Given the description of an element on the screen output the (x, y) to click on. 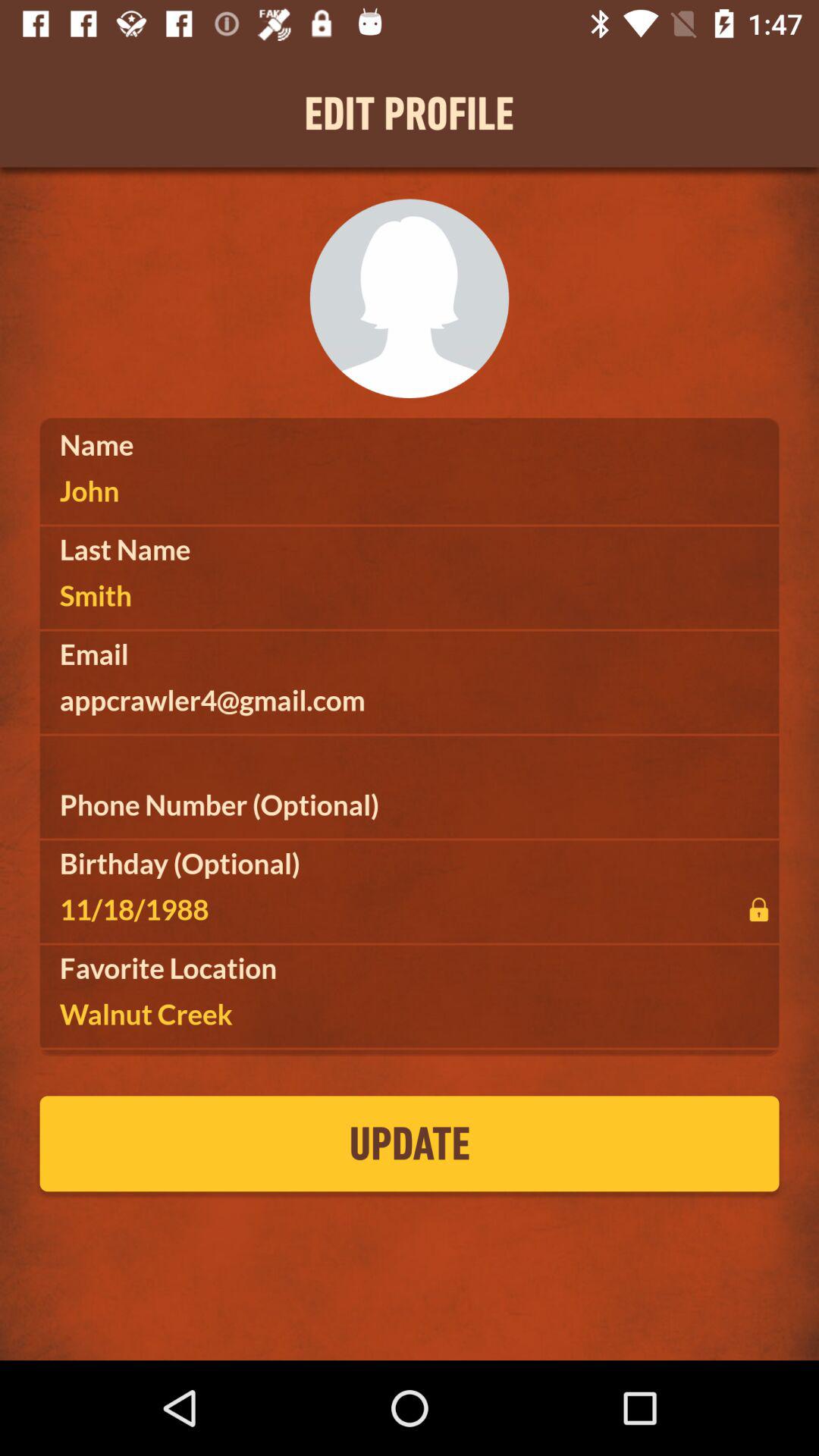
enter phone number (409, 804)
